Given the description of an element on the screen output the (x, y) to click on. 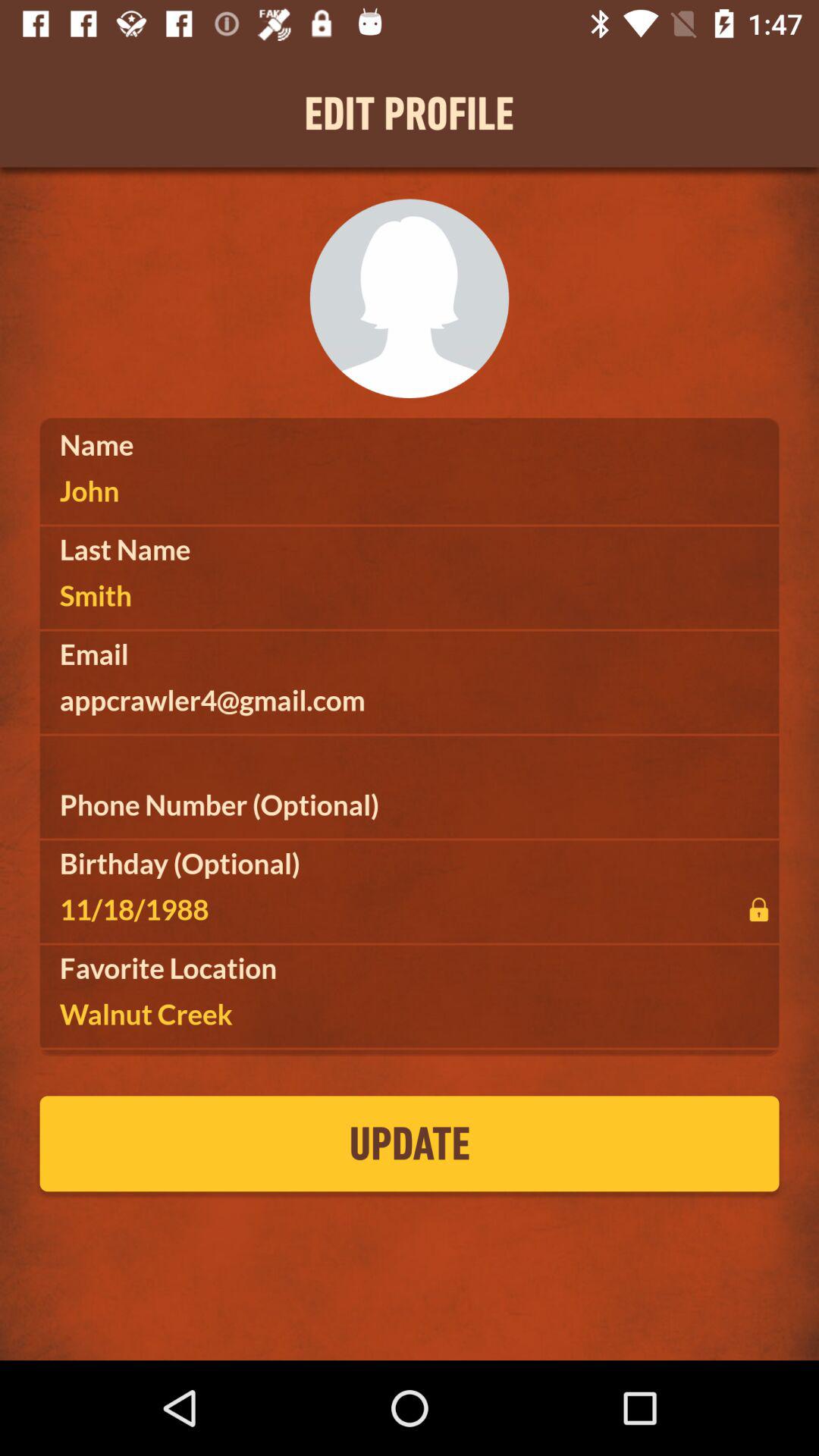
enter phone number (409, 804)
